Given the description of an element on the screen output the (x, y) to click on. 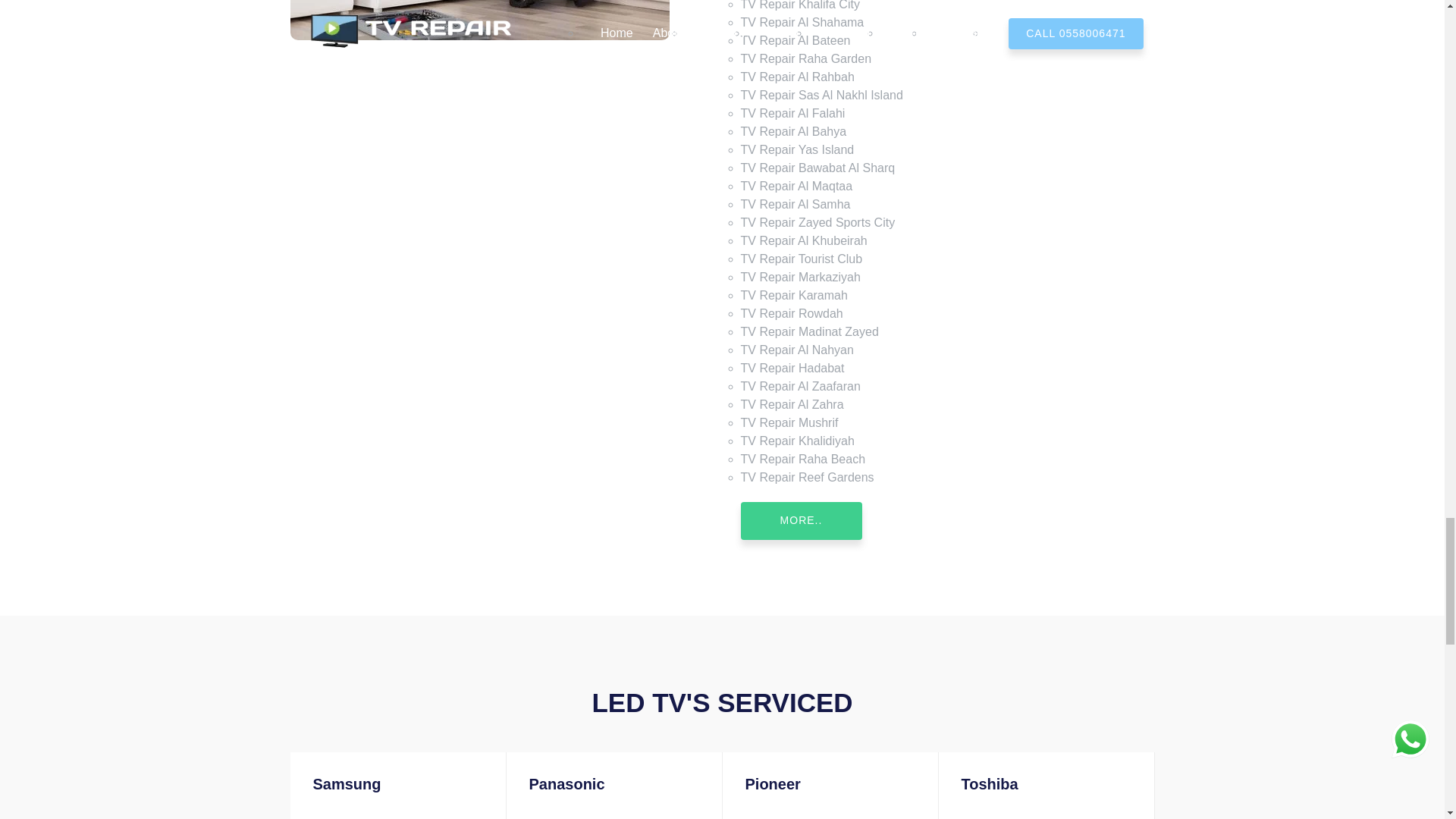
MORE.. (800, 520)
